Given the description of an element on the screen output the (x, y) to click on. 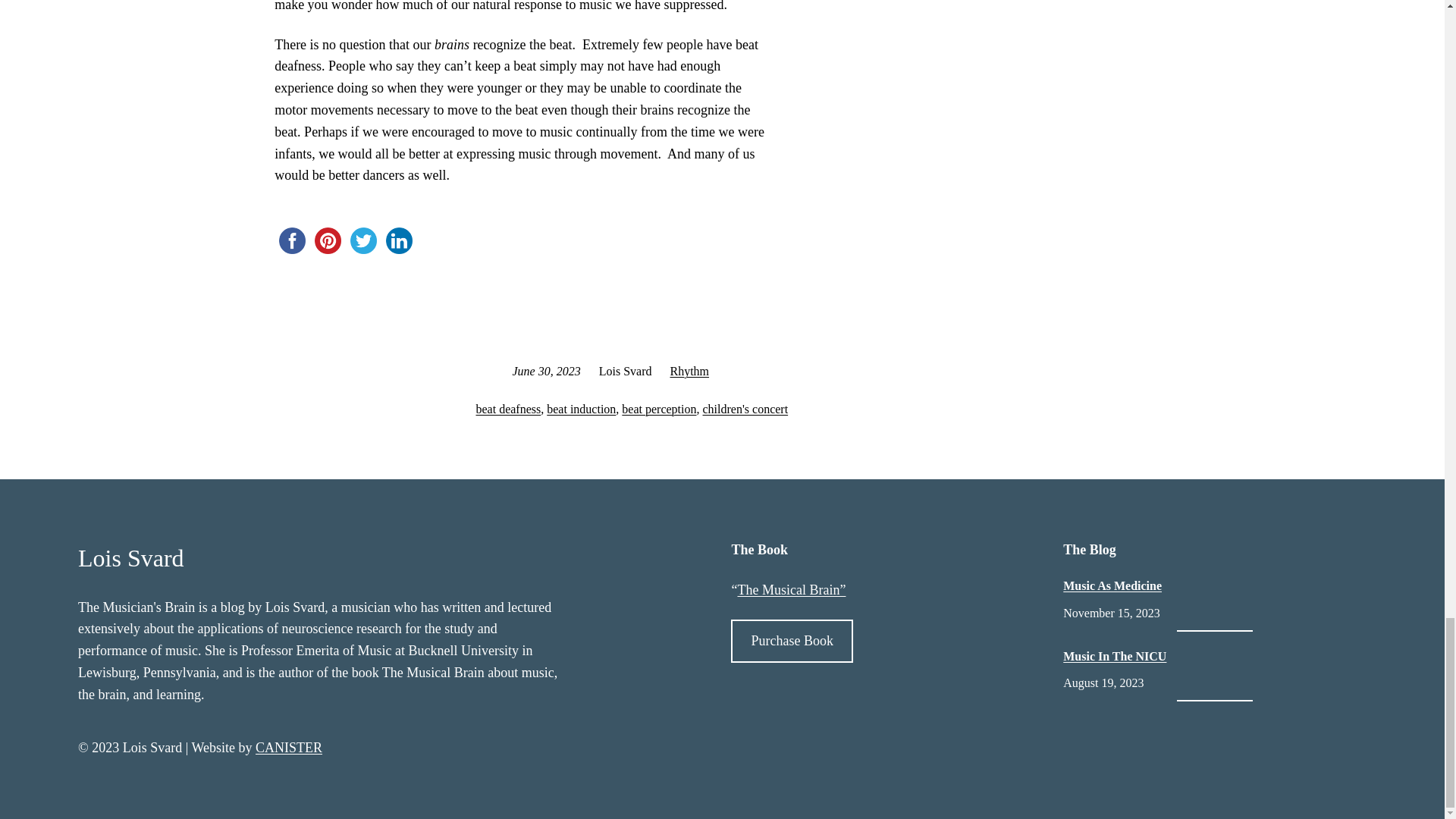
beat induction (581, 408)
linkedin (398, 240)
Music As Medicine (1111, 585)
beat deafness (508, 408)
CANISTER (288, 747)
Rhythm (689, 370)
beat perception (658, 408)
pinterest (328, 240)
facebook (292, 240)
children's concert (744, 408)
